Given the description of an element on the screen output the (x, y) to click on. 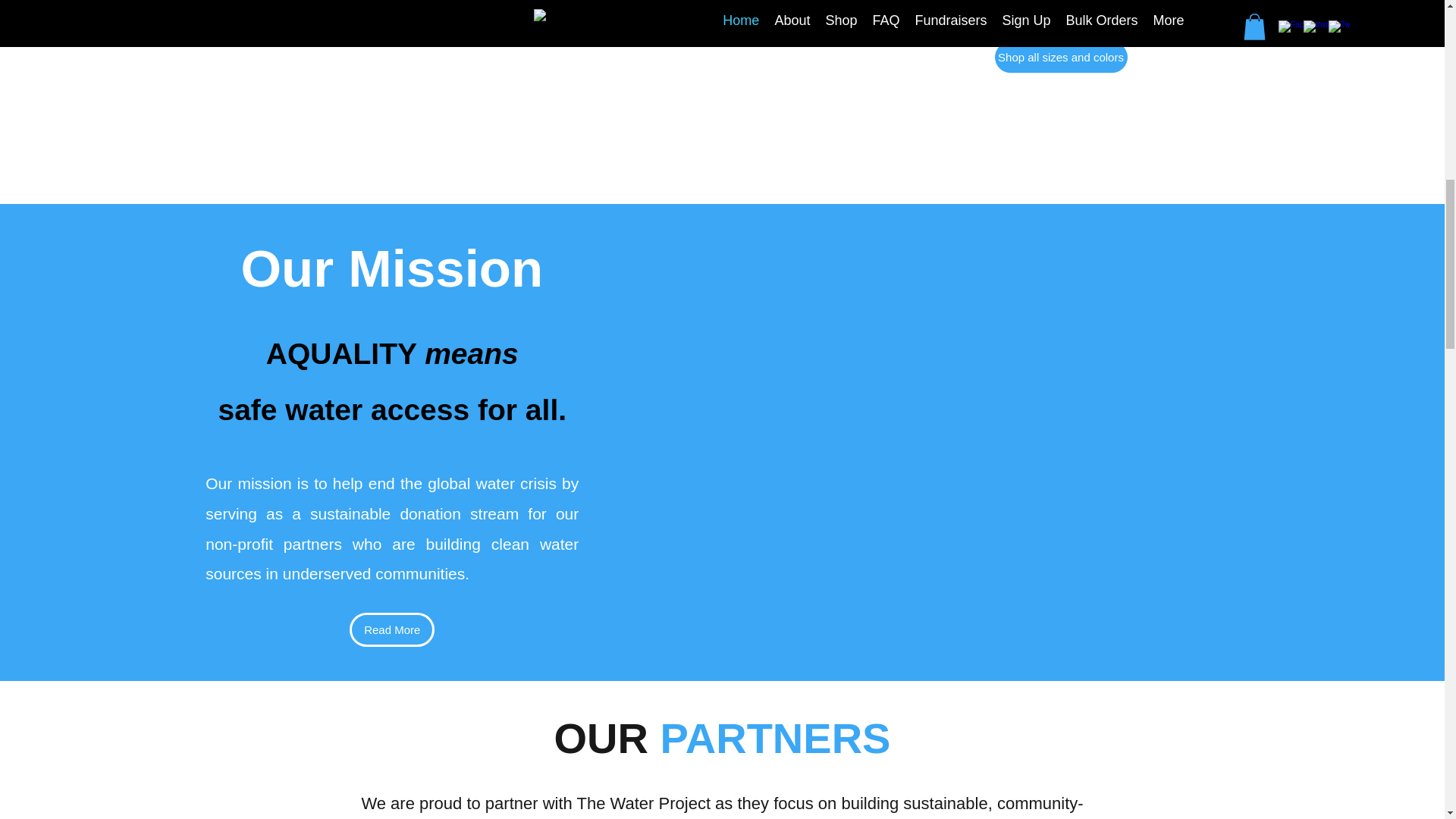
Shop all sizes and colors (1060, 56)
Read More (391, 629)
